Given the description of an element on the screen output the (x, y) to click on. 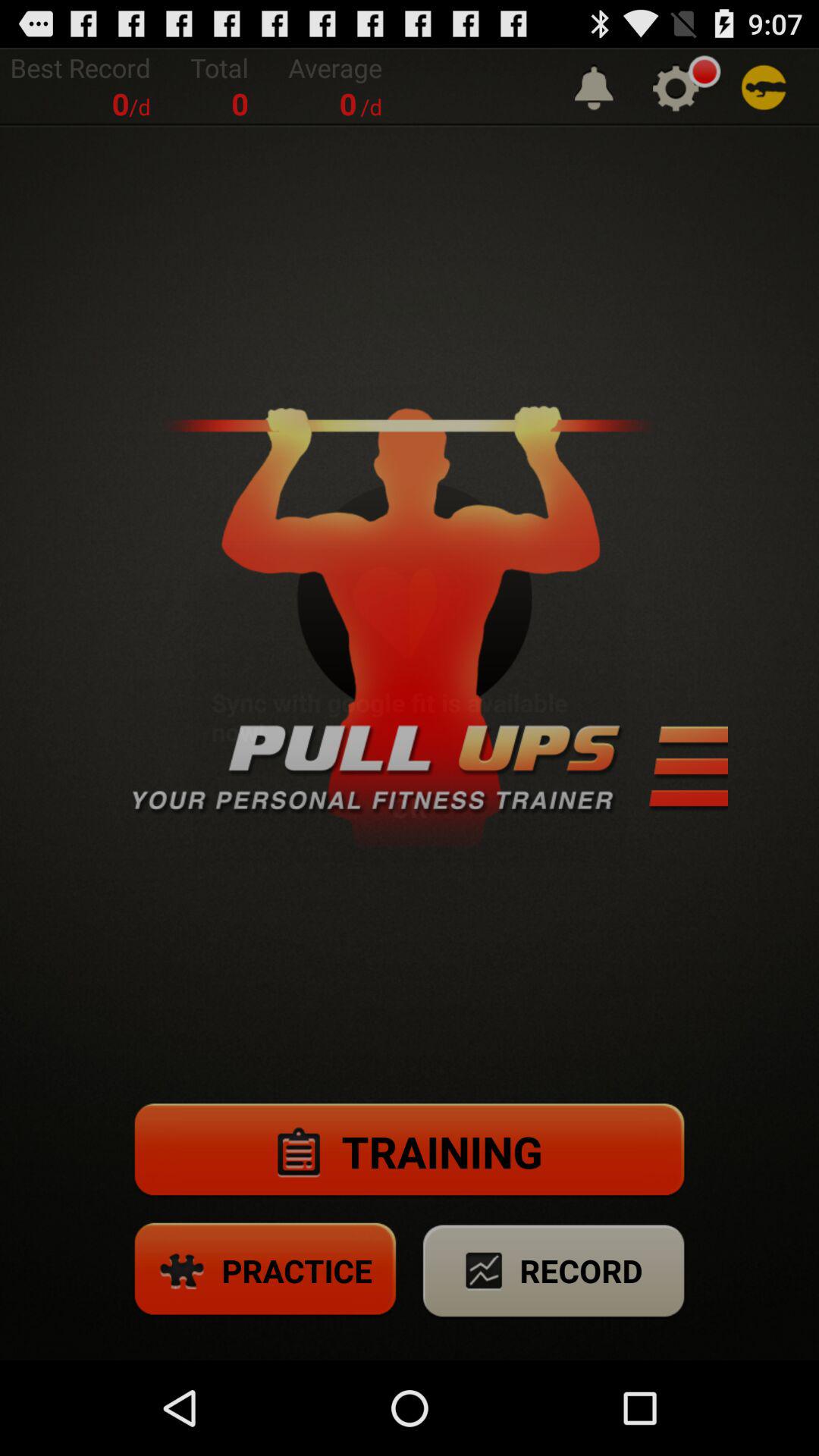
click for settings (675, 87)
